Given the description of an element on the screen output the (x, y) to click on. 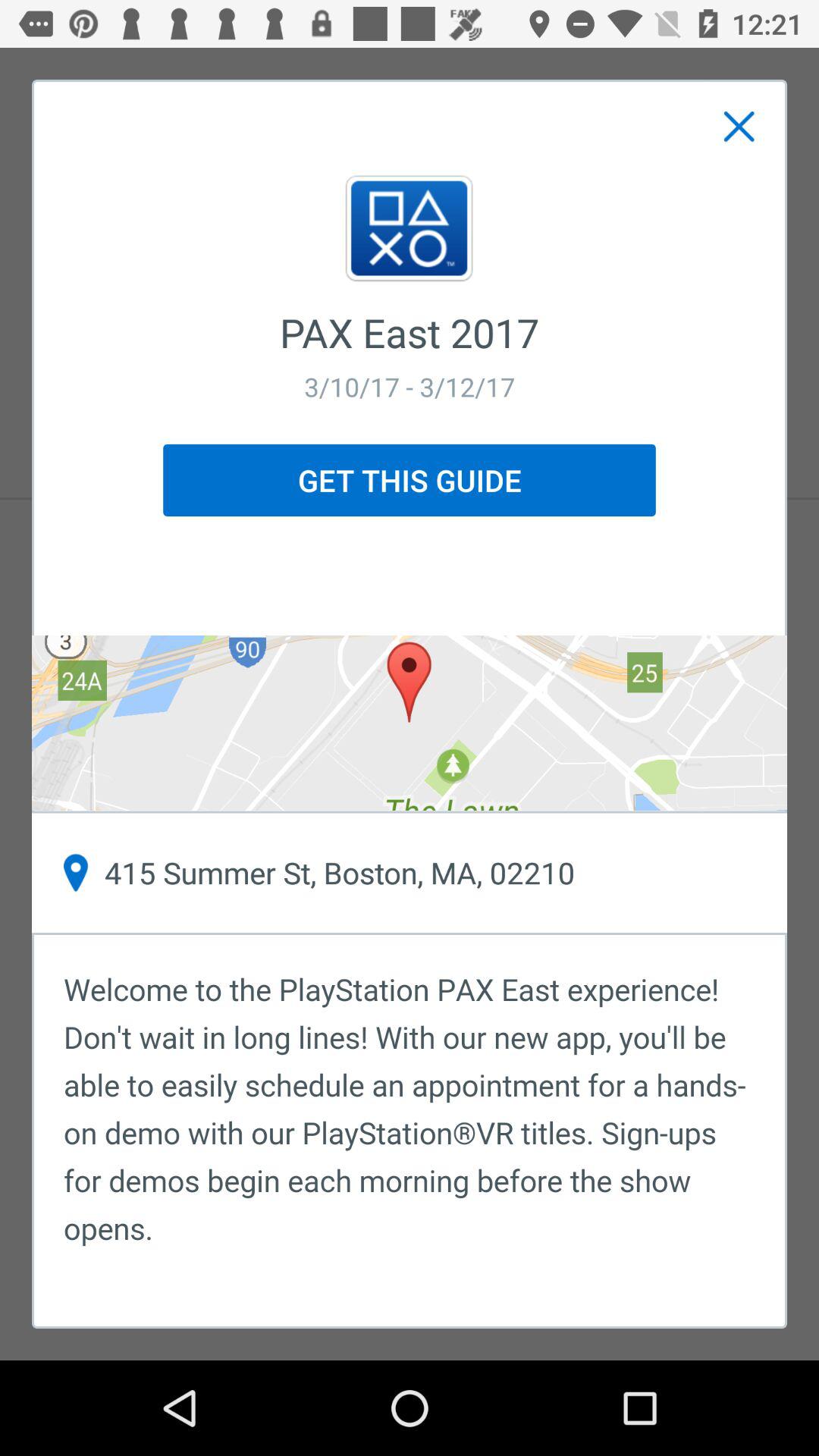
turn on the item below the get this guide item (409, 723)
